Given the description of an element on the screen output the (x, y) to click on. 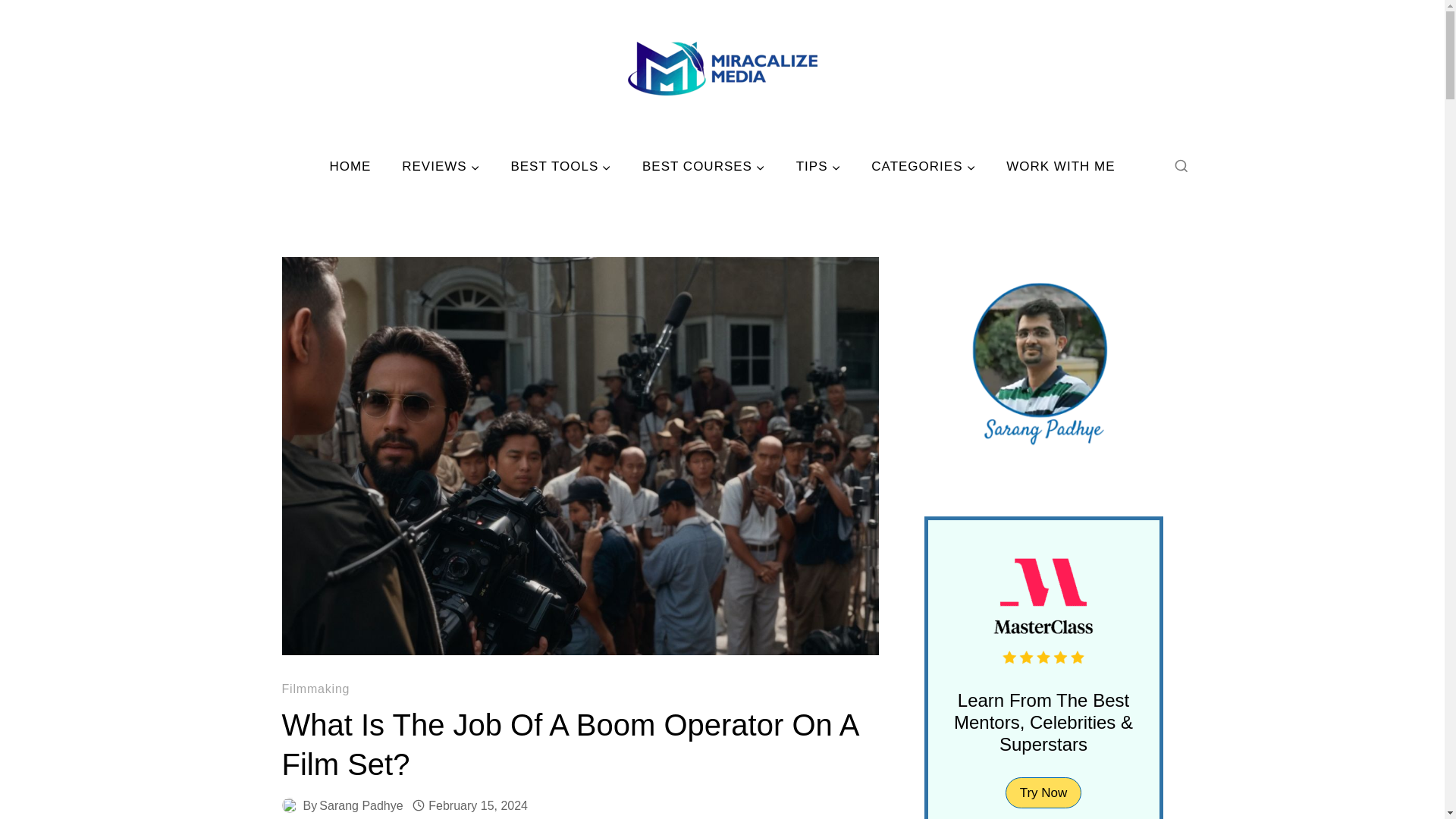
BEST TOOLS (561, 166)
REVIEWS (441, 166)
CATEGORIES (923, 166)
TIPS (818, 166)
BEST COURSES (703, 166)
HOME (350, 166)
